Given the description of an element on the screen output the (x, y) to click on. 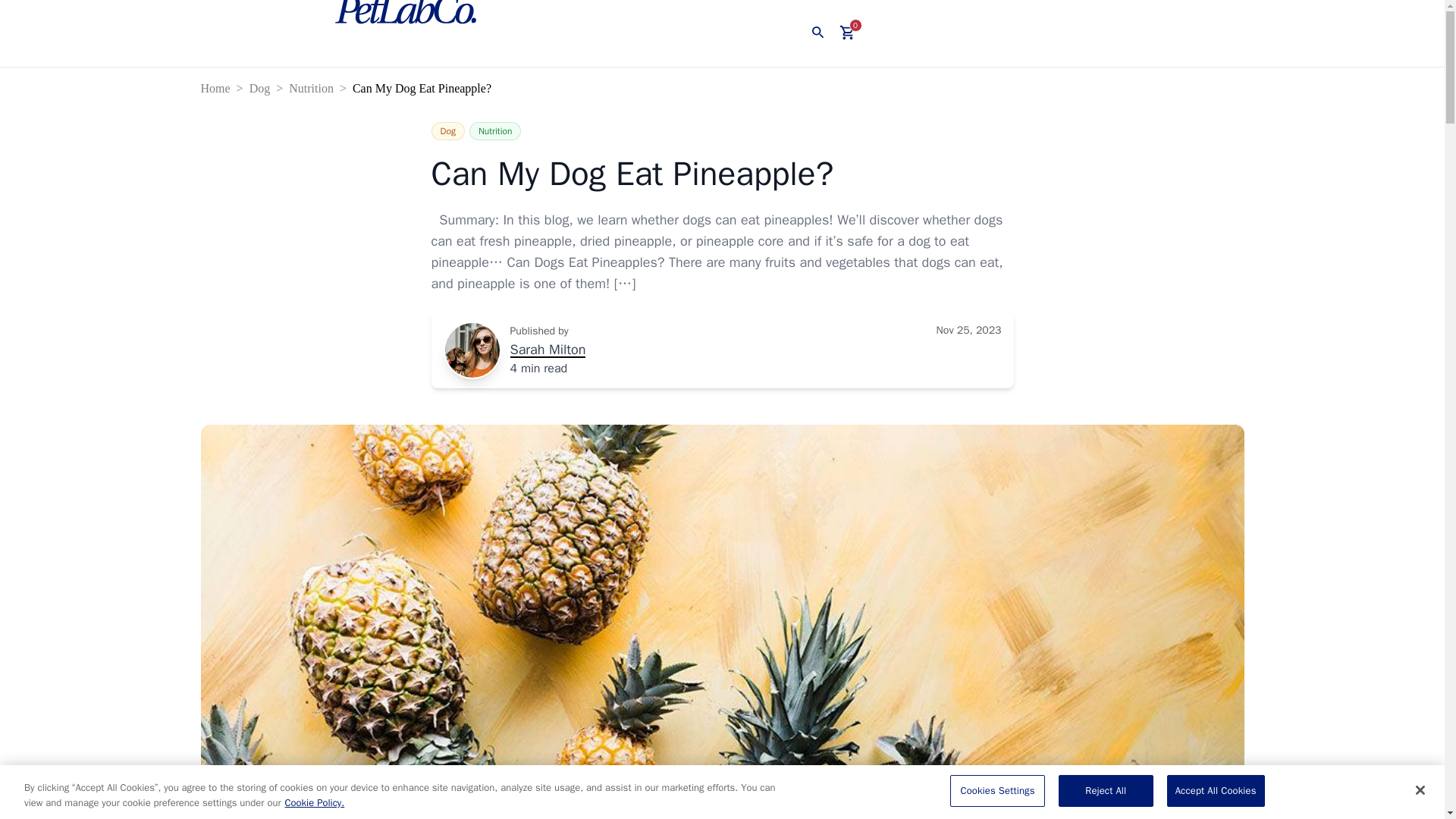
S (471, 350)
Can My Dog Eat Pineapple? (424, 88)
Can My Dog Eat Pineapple? (721, 174)
Sarah Milton (547, 350)
Nutrition (494, 131)
Dog (447, 131)
